Given the description of an element on the screen output the (x, y) to click on. 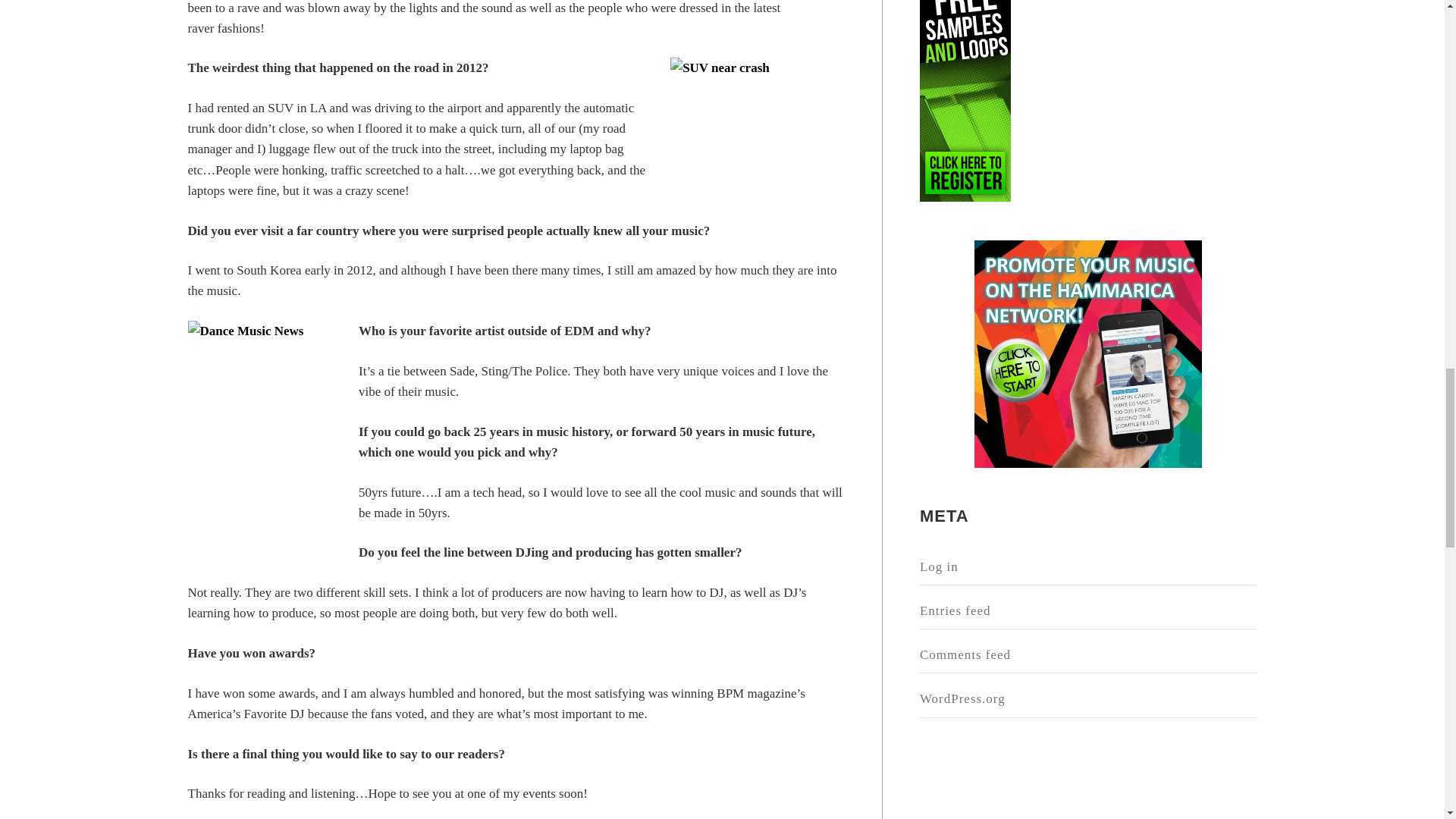
Entries feed (1088, 610)
Log in (1088, 566)
Comments feed (1088, 655)
WordPress.org (1088, 698)
Register for Free Samples and Loops at Loopmasters.com (965, 100)
